Given the description of an element on the screen output the (x, y) to click on. 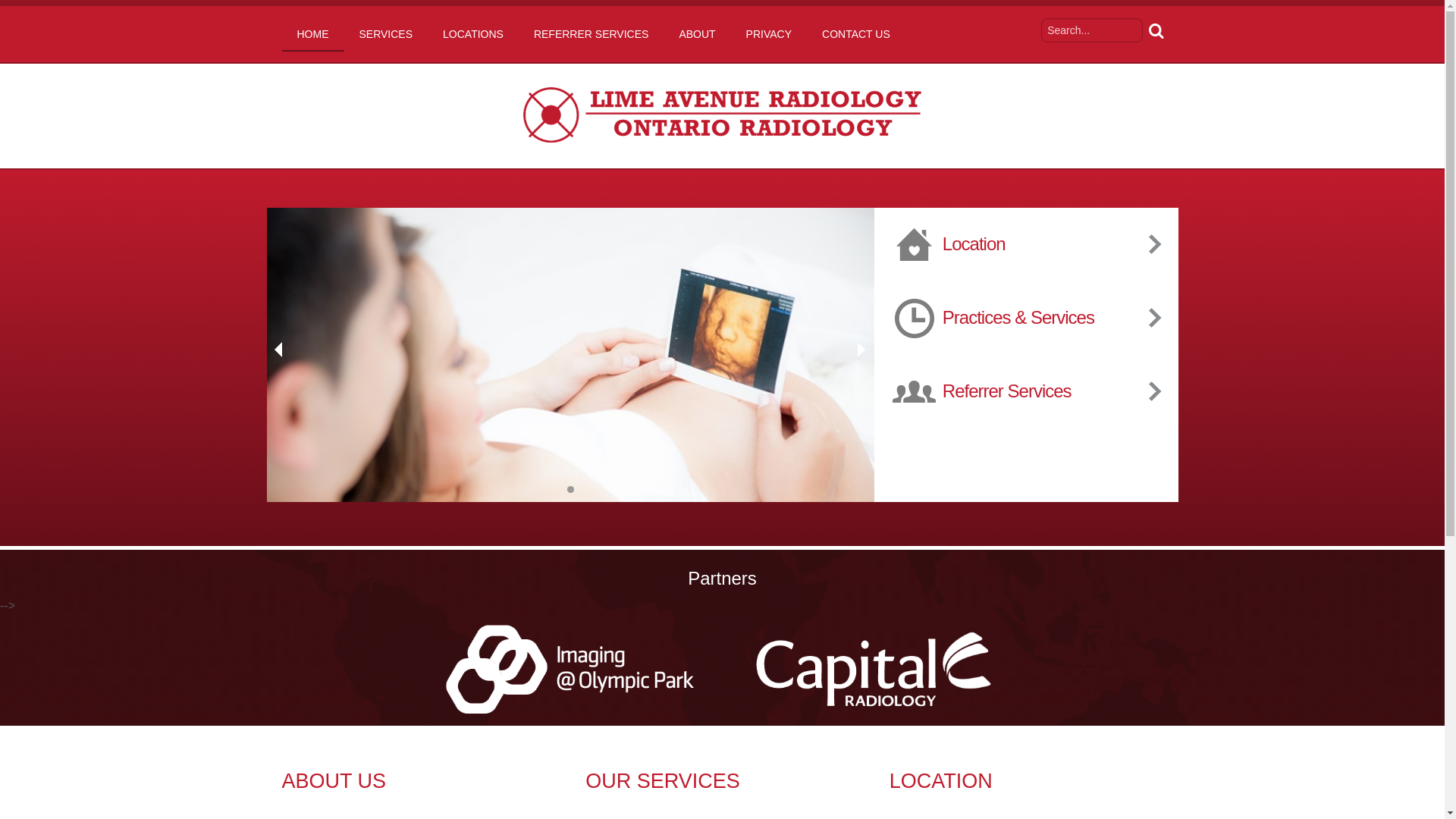
LOCATIONS Element type: text (472, 34)
CONTACT US Element type: text (855, 34)
REFERRER SERVICES Element type: text (590, 34)
ABOUT Element type: text (696, 34)
HOME Element type: text (313, 34)
SERVICES Element type: text (386, 34)
Practices & Services Element type: text (1060, 317)
PRIVACY Element type: text (768, 34)
Referrer Services Element type: text (1060, 391)
Location Element type: text (1060, 244)
